Given the description of an element on the screen output the (x, y) to click on. 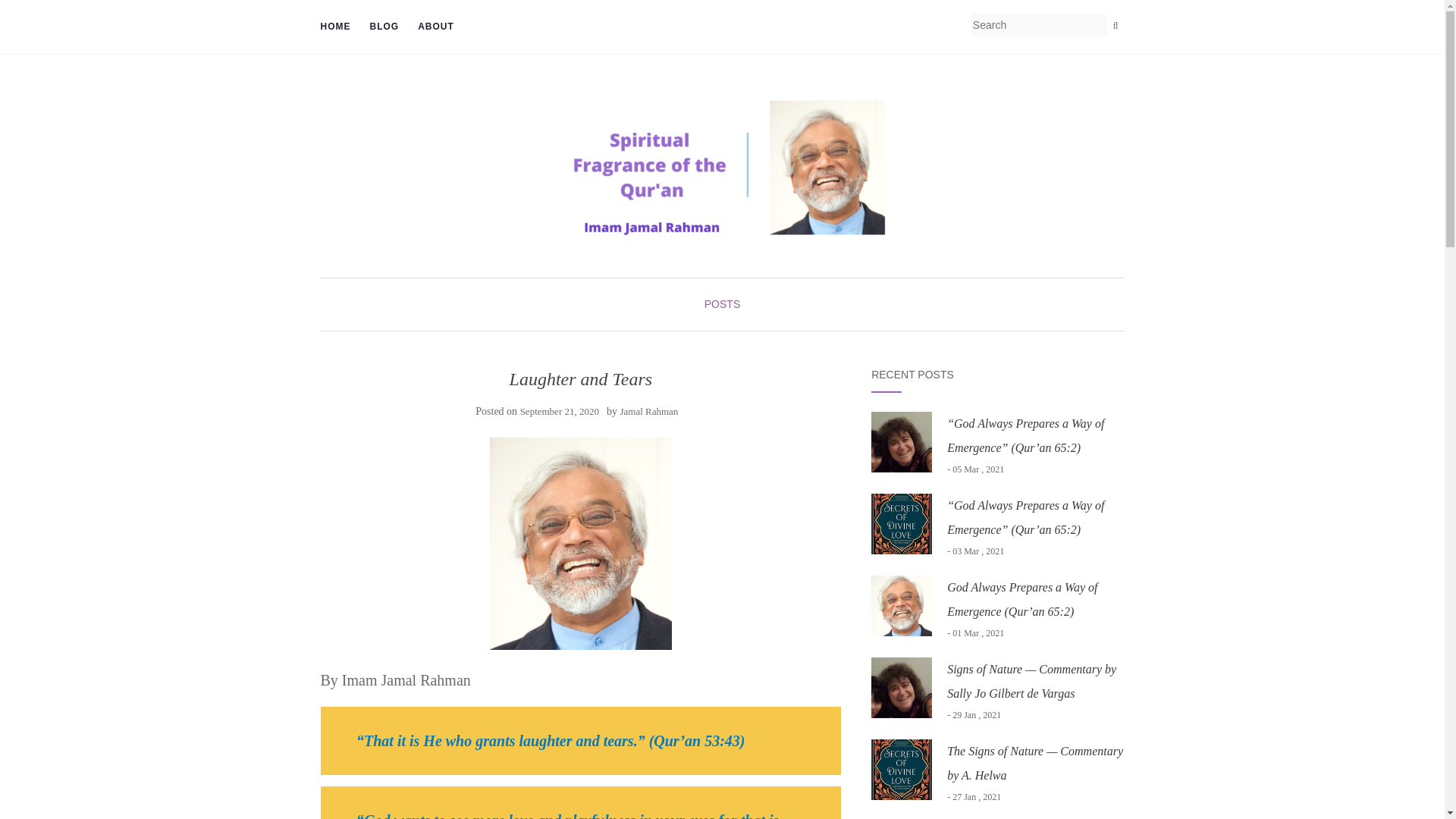
September 21, 2020 (558, 410)
POSTS (721, 304)
Jamal Rahman (649, 410)
Laughter and Tears (580, 543)
